Given the description of an element on the screen output the (x, y) to click on. 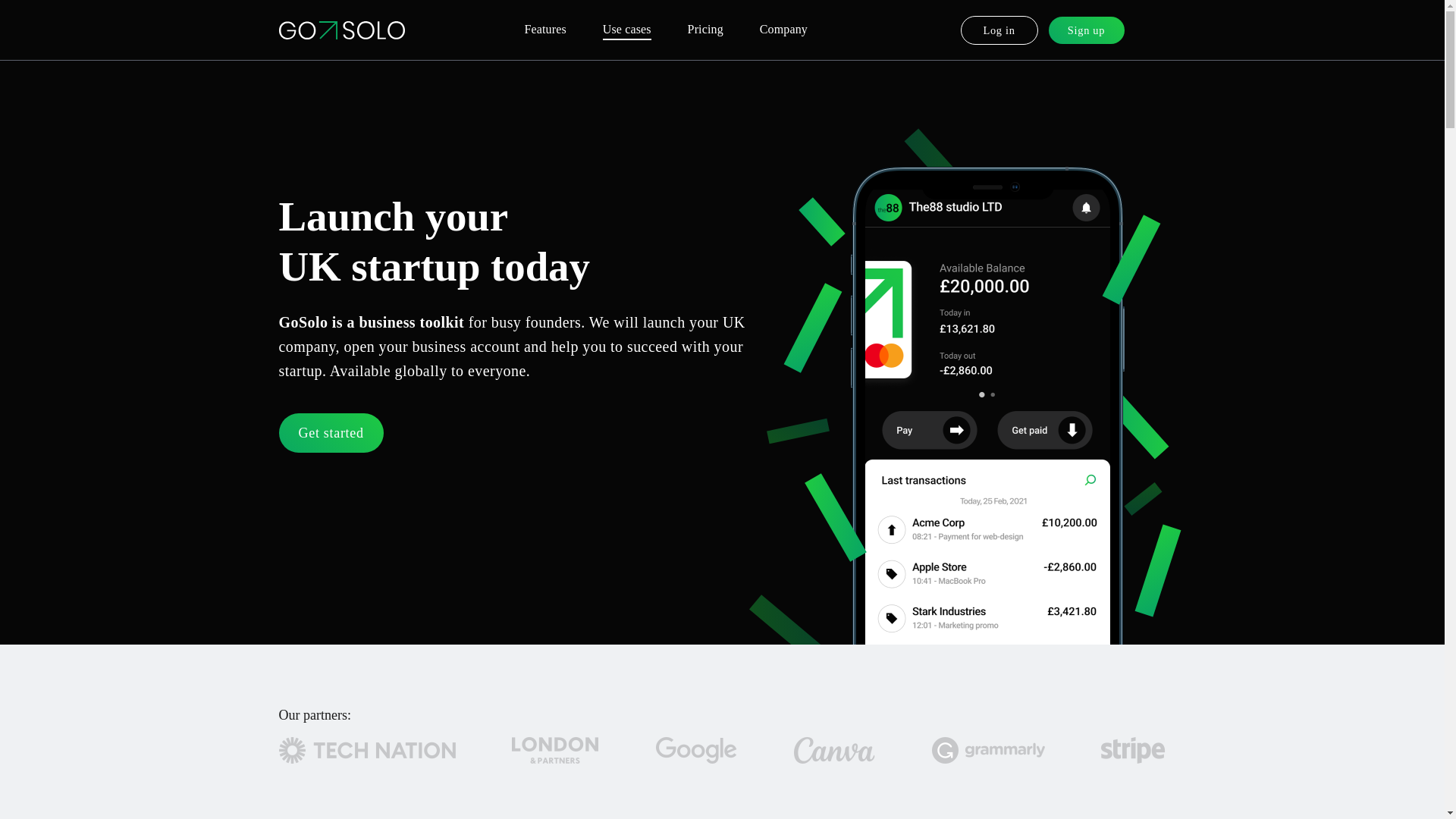
Sign up (1086, 30)
Pricing (705, 30)
Log in (998, 30)
